Given the description of an element on the screen output the (x, y) to click on. 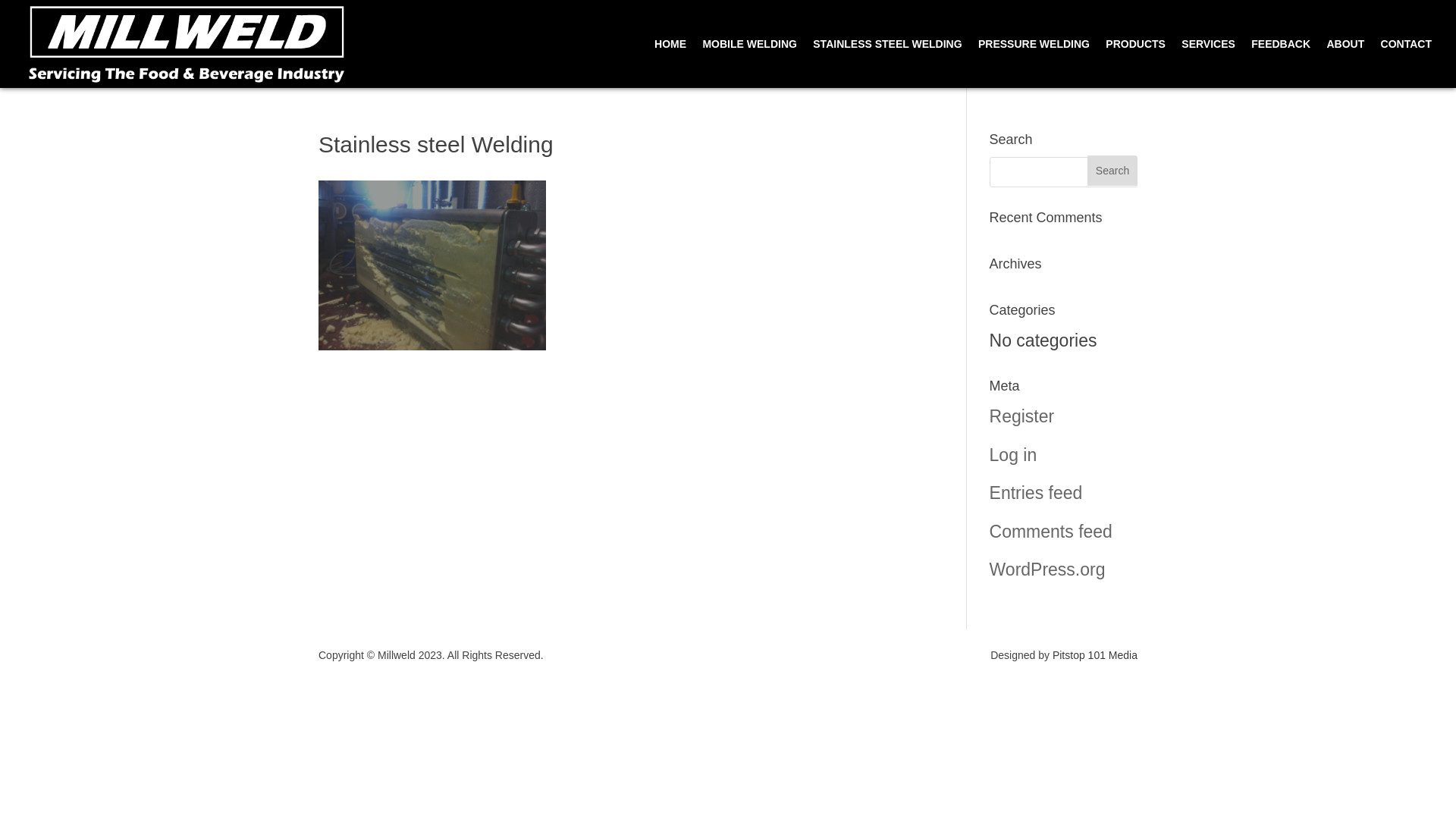
Pitstop 101 Media Element type: text (1094, 655)
HOME Element type: text (670, 62)
Comments feed Element type: text (1050, 531)
ABOUT Element type: text (1345, 62)
Millweld Element type: hover (186, 43)
STAINLESS STEEL WELDING Element type: text (886, 62)
CONTACT Element type: text (1405, 62)
Entries feed Element type: text (1035, 492)
PRODUCTS Element type: text (1135, 62)
FEEDBACK Element type: text (1280, 62)
MOBILE WELDING Element type: text (749, 62)
PRESSURE WELDING Element type: text (1033, 62)
Register Element type: text (1021, 416)
WordPress.org Element type: text (1047, 569)
Log in Element type: text (1013, 454)
SERVICES Element type: text (1208, 62)
Search Element type: text (1112, 170)
